Given the description of an element on the screen output the (x, y) to click on. 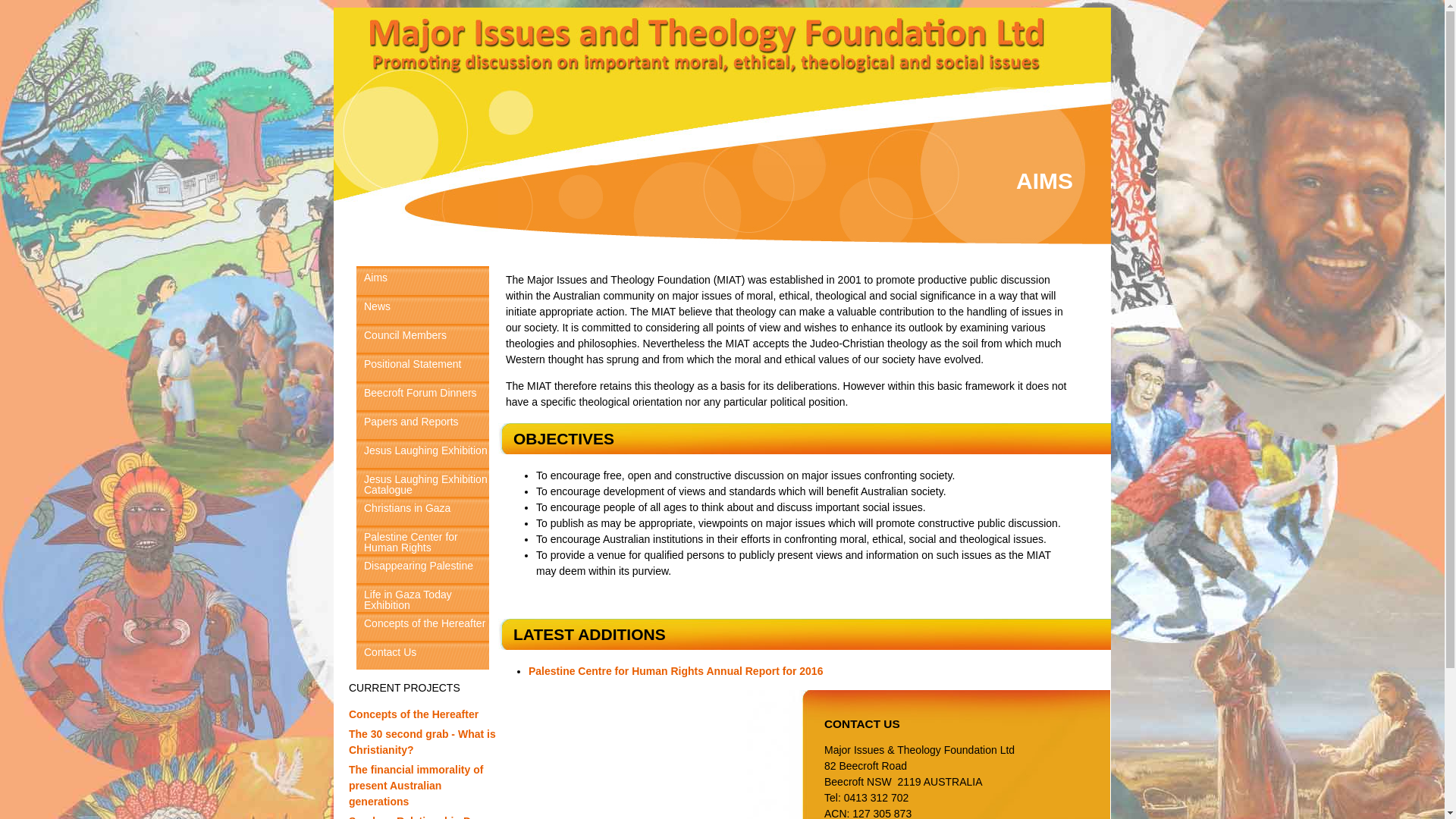
Papers and Reports Element type: text (422, 424)
Concepts of the Hereafter Element type: text (413, 714)
The 30 second grab - What is Christianity? Element type: text (421, 742)
Aims Element type: text (422, 280)
Life in Gaza Today Exhibition Element type: text (422, 597)
News Element type: text (422, 308)
Positional Statement Element type: text (422, 366)
Council Members Element type: text (422, 337)
Jesus Laughing Exhibition Catalogue Element type: text (422, 481)
Palestine Center for Human Rights Element type: text (422, 539)
Palestine Centre for Human Rights Annual Report for 2016 Element type: text (675, 671)
Beecroft Forum Dinners Element type: text (422, 395)
Disappearing Palestine Element type: text (422, 568)
Concepts of the Hereafter Element type: text (422, 625)
The financial immorality of present Australian generations Element type: text (415, 785)
Contact Us Element type: text (422, 654)
Christians in Gaza Element type: text (422, 510)
Jesus Laughing Exhibition Element type: text (422, 453)
